Given the description of an element on the screen output the (x, y) to click on. 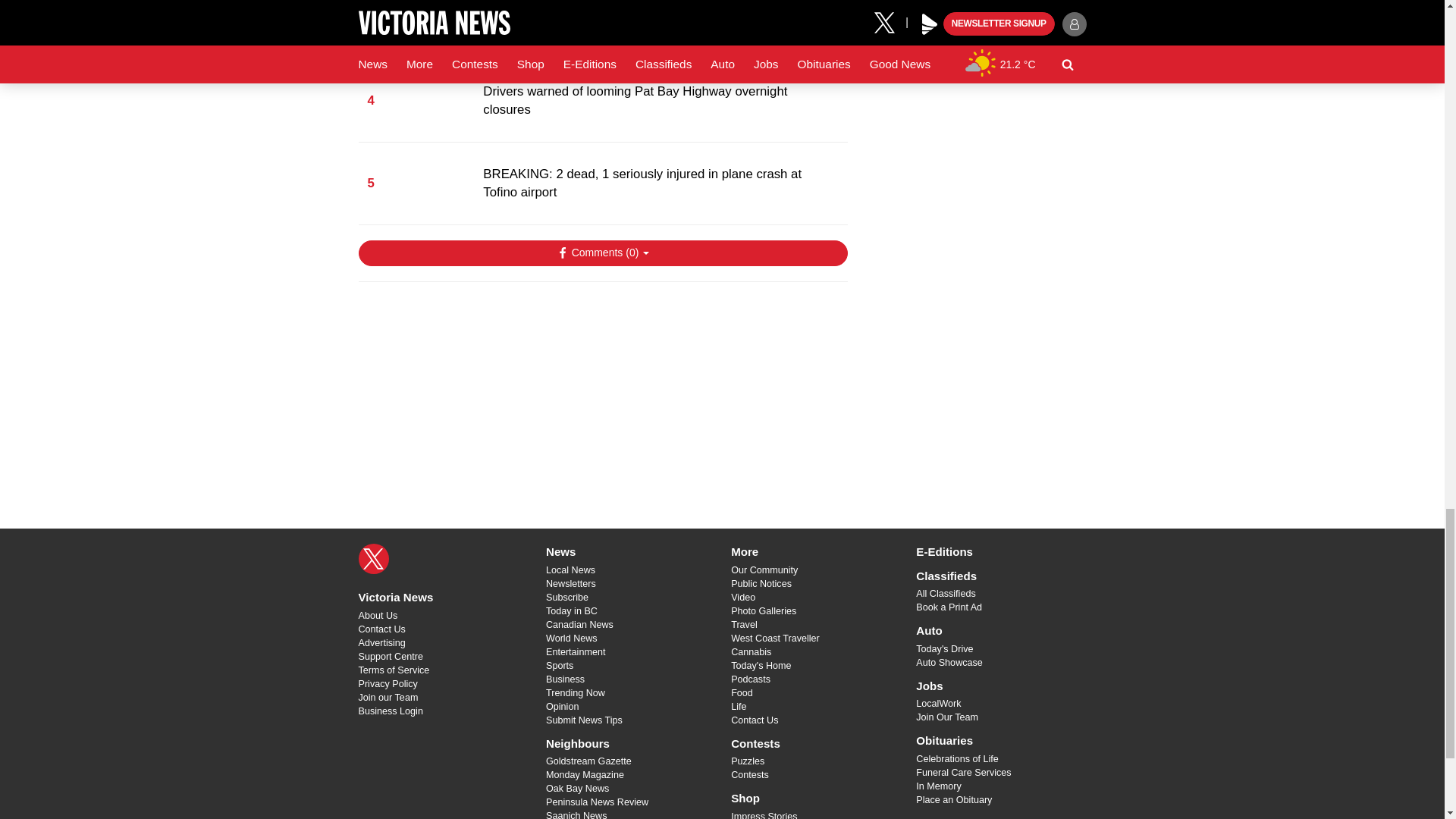
3rd party ad content (602, 391)
Show Comments (602, 253)
X (373, 558)
